Given the description of an element on the screen output the (x, y) to click on. 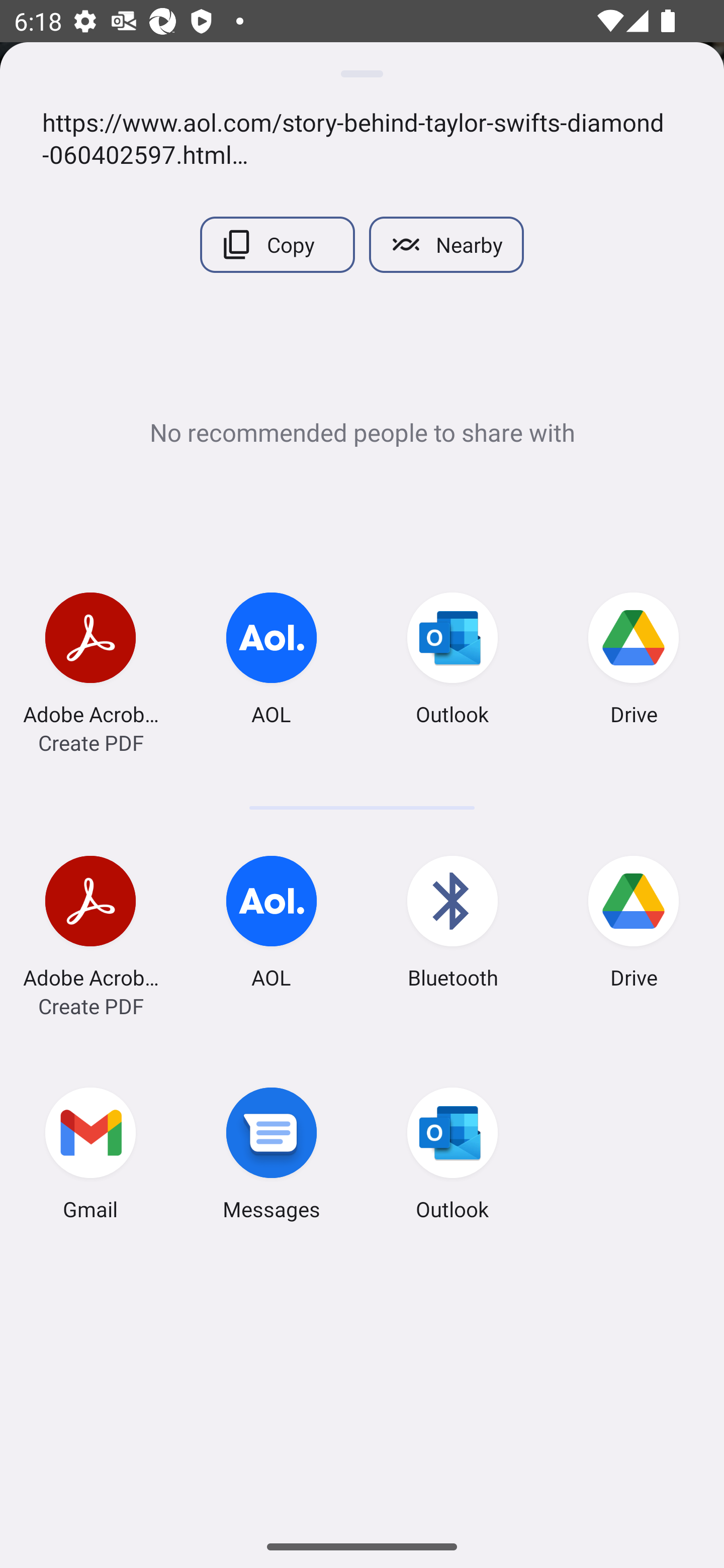
Copy (276, 244)
Nearby (446, 244)
Adobe Acrobat Create PDF (90, 661)
AOL (271, 661)
Outlook (452, 661)
Drive (633, 661)
Adobe Acrobat Create PDF (90, 925)
AOL (271, 925)
Bluetooth (452, 925)
Drive (633, 925)
Gmail (90, 1157)
Messages (271, 1157)
Outlook (452, 1157)
